Given the description of an element on the screen output the (x, y) to click on. 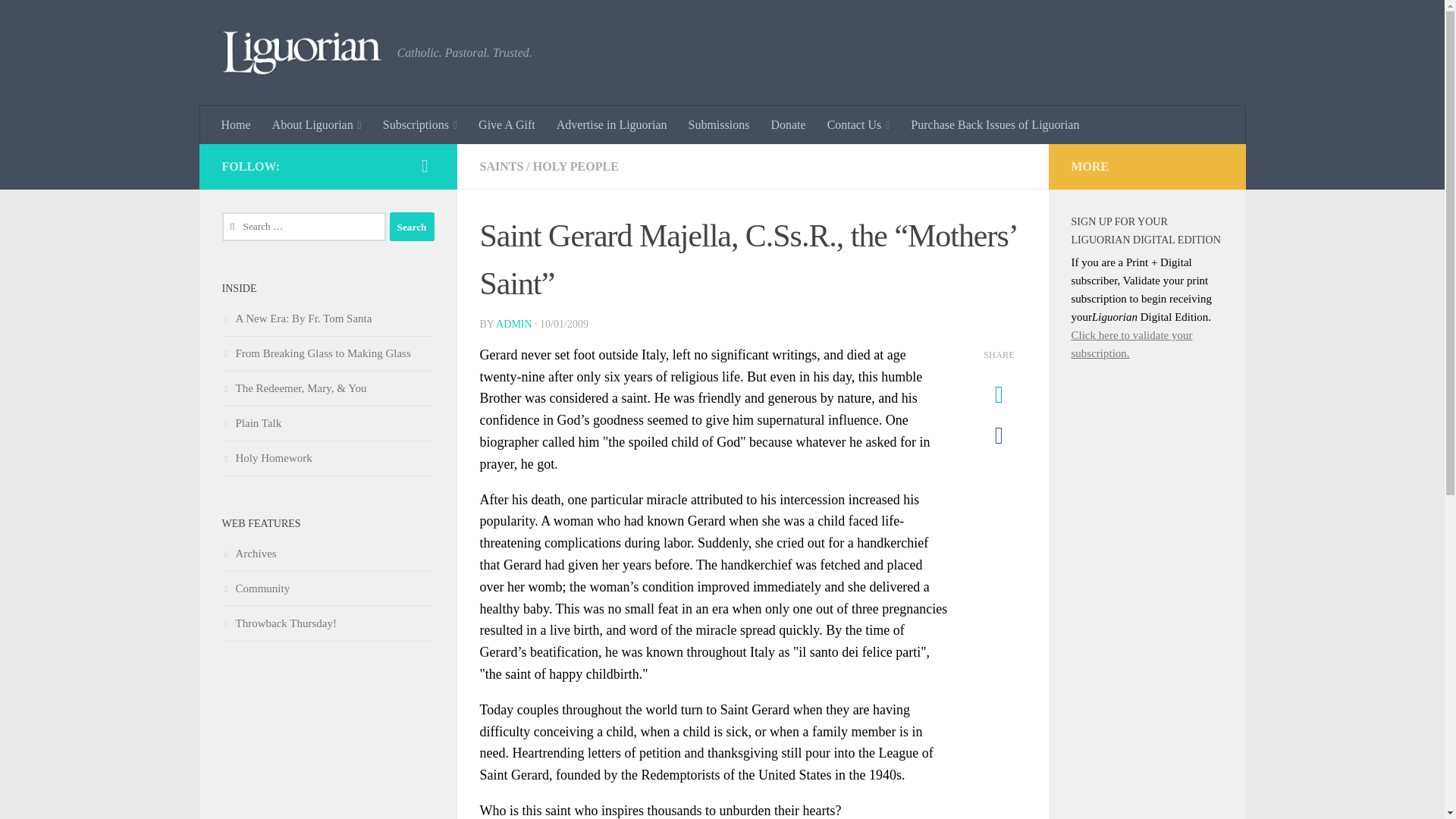
Donate (787, 125)
Subscriptions (419, 125)
Home (236, 125)
Search (411, 226)
Search (411, 226)
Advertise in Liguorian (612, 125)
Skip to content (59, 20)
Follow us on Facebook (423, 166)
Contact Us (858, 125)
Submissions (719, 125)
Give A Gift (506, 125)
Posts by admin (513, 324)
About Liguorian (317, 125)
